Given the description of an element on the screen output the (x, y) to click on. 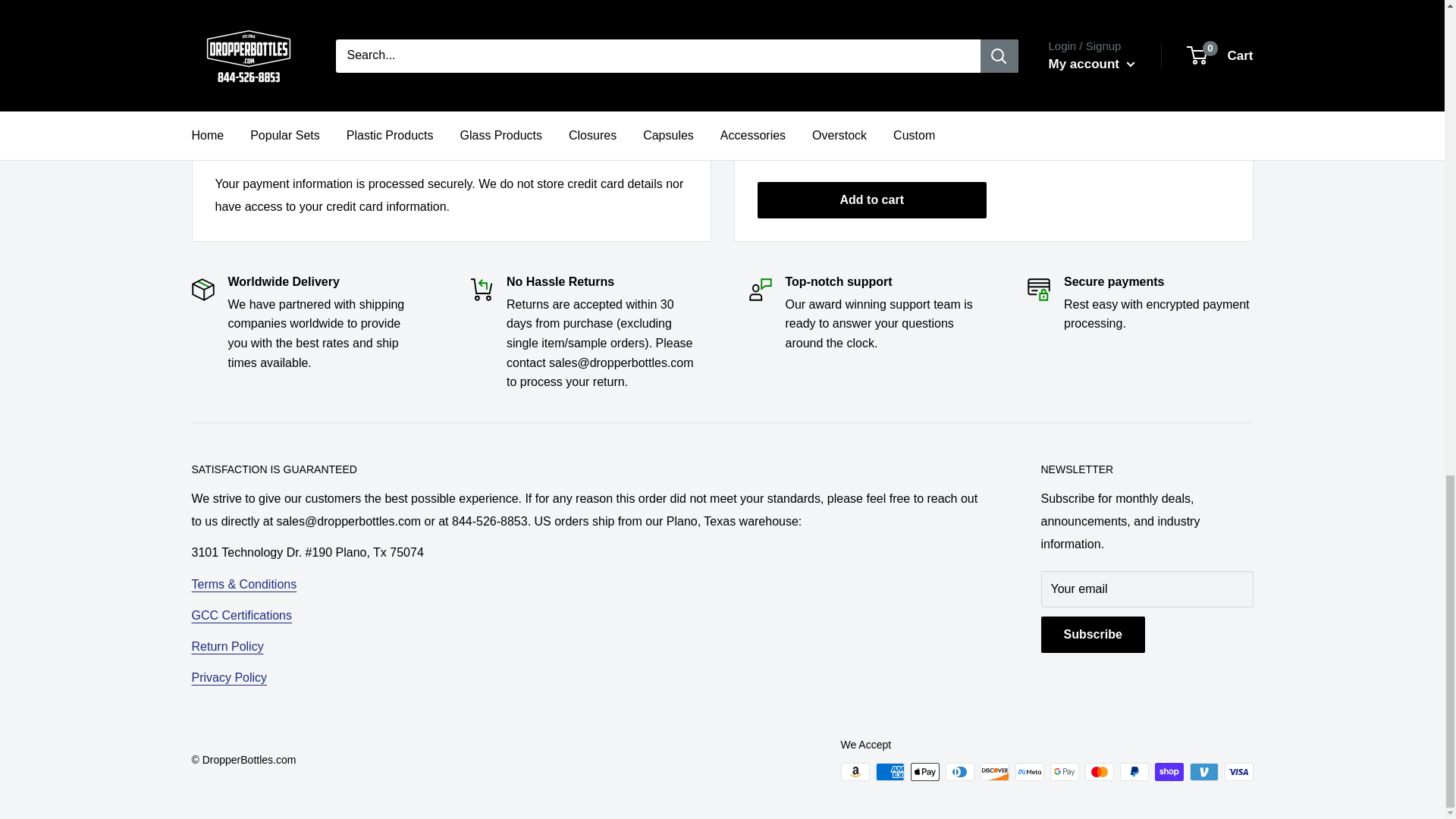
Terms of Service (243, 584)
GCC Certifications Page (240, 615)
Refund Policy (226, 645)
Privacy Policy (228, 676)
